Given the description of an element on the screen output the (x, y) to click on. 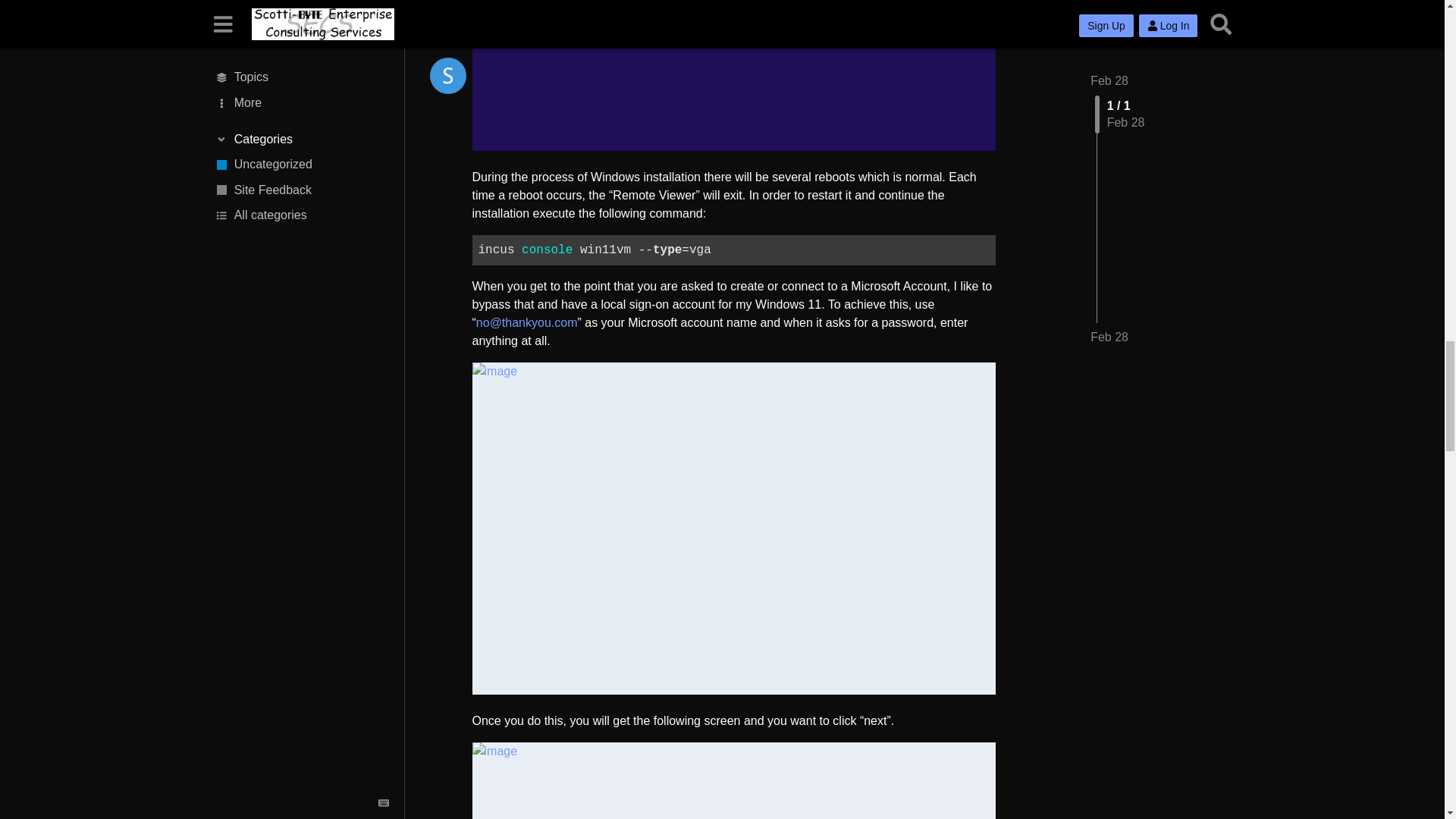
image (732, 780)
image (732, 75)
